Given the description of an element on the screen output the (x, y) to click on. 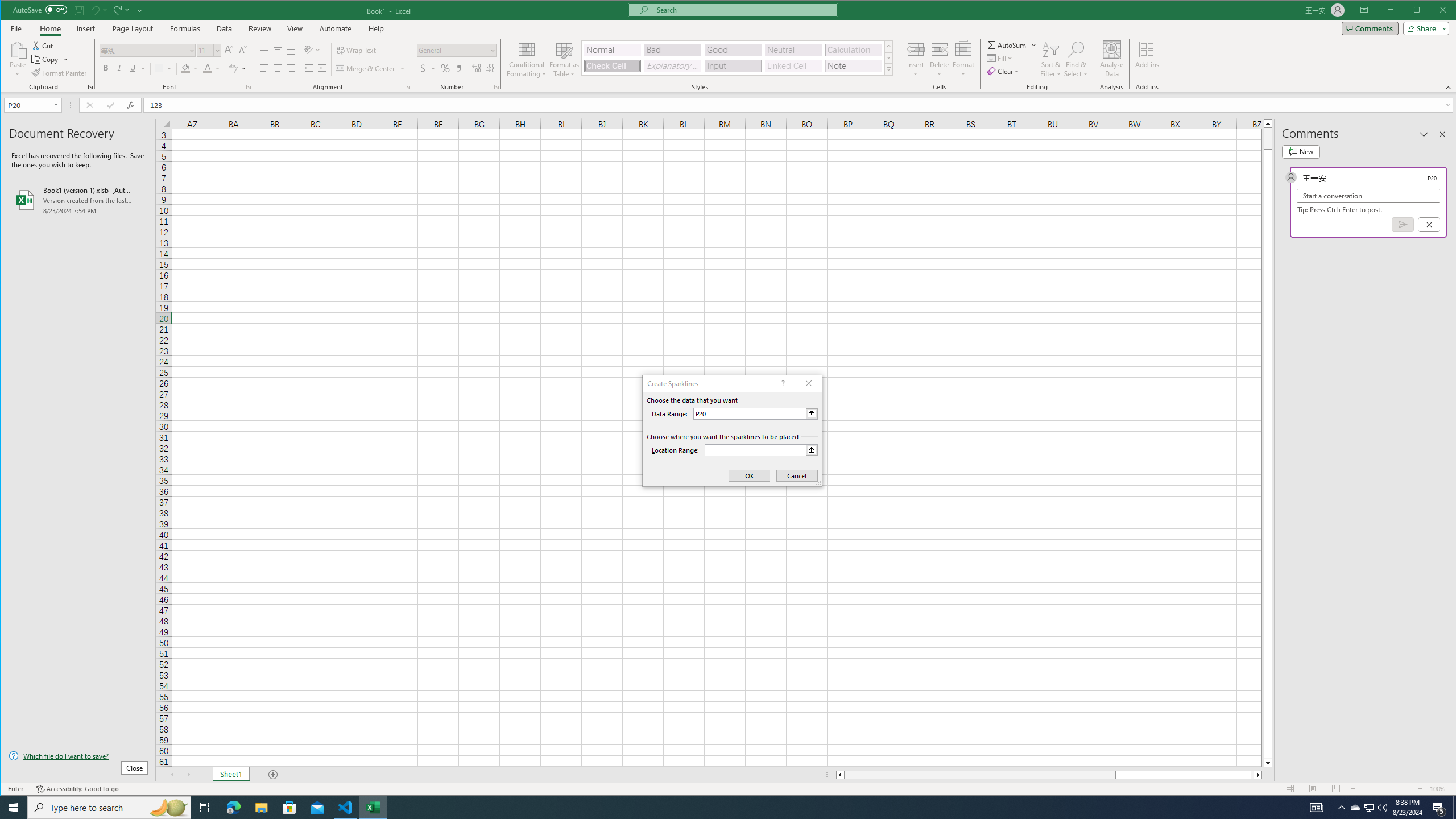
Merge & Center (365, 68)
Number Format (456, 49)
Middle Align (276, 49)
Page right (1251, 774)
Decrease Decimal (489, 68)
Insert Cells (915, 48)
Decrease Font Size (241, 49)
Wrap Text (356, 49)
Book1 (version 1).xlsb  [AutoRecovered] (78, 199)
Delete Cells... (939, 48)
Percent Style (445, 68)
Note (853, 65)
